Given the description of an element on the screen output the (x, y) to click on. 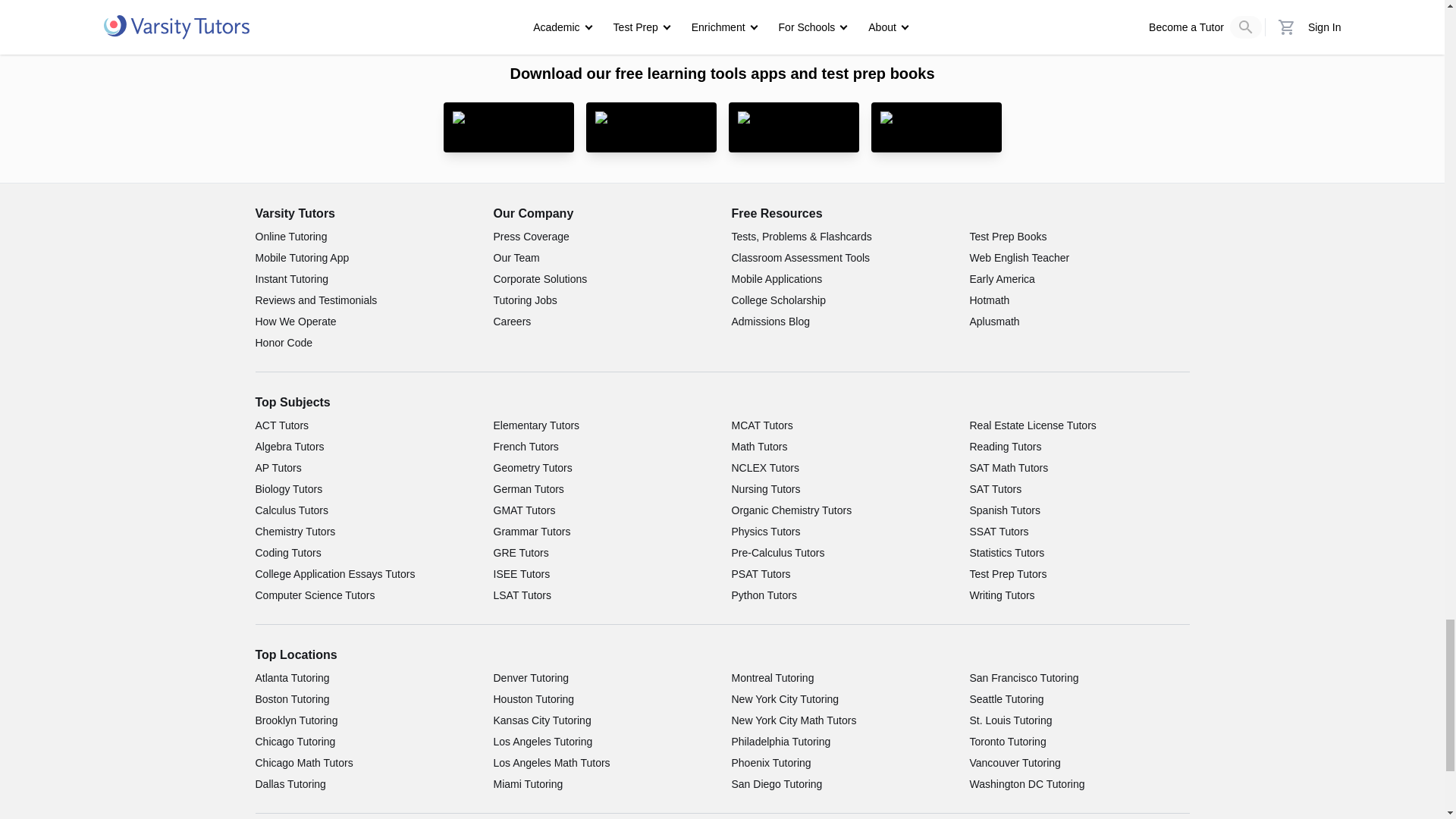
Varsity Tutors Study Guide eBooks on iBooks (935, 127)
Varsity Tutors Study Guide eBooks on Amazon (793, 127)
Varsity Tutors Learning Tools App on Google Play Store (650, 127)
Varsity Tutors Learning Tools App on Apple App Store (507, 127)
